Given the description of an element on the screen output the (x, y) to click on. 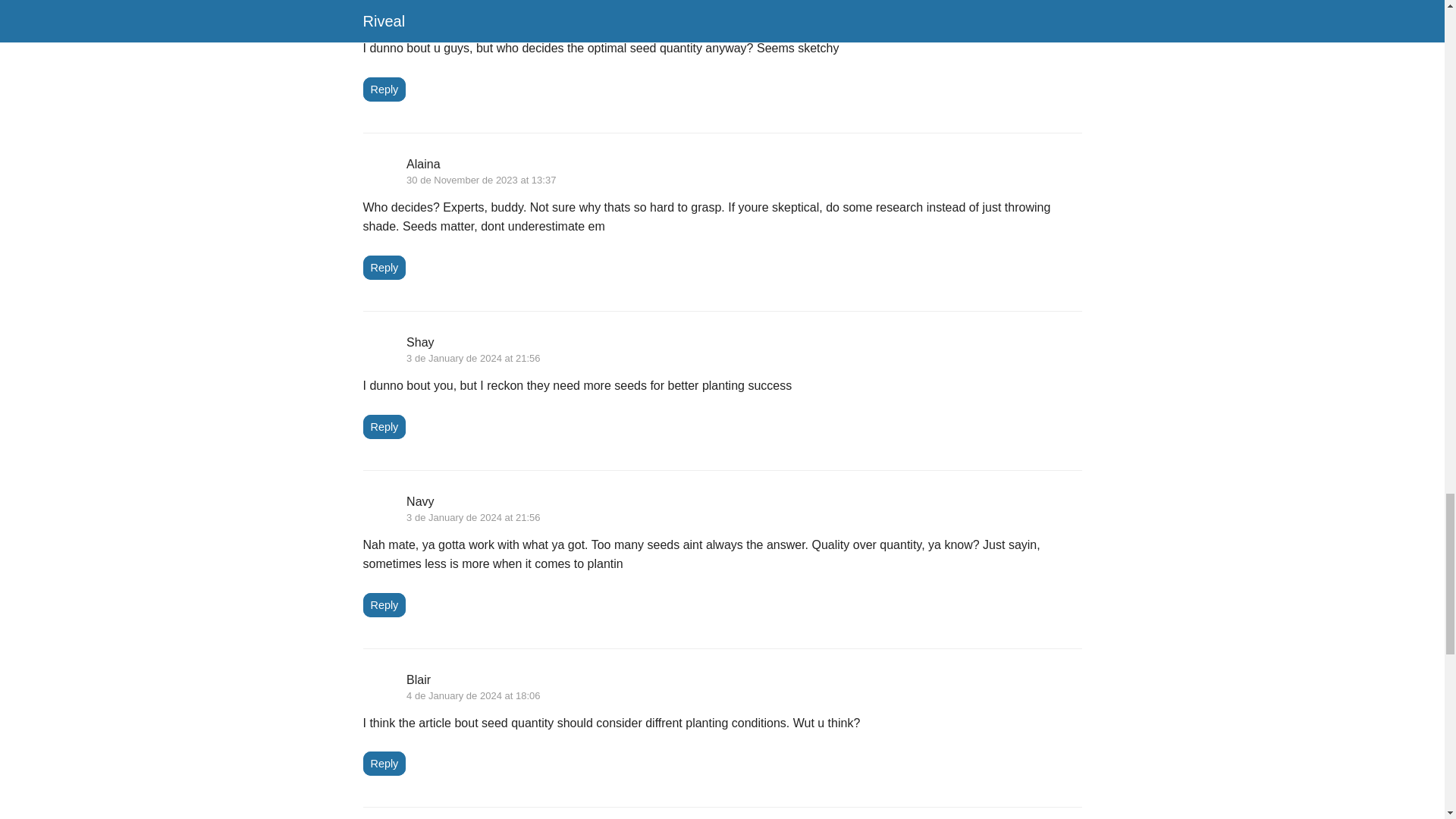
3 de January de 2024 at 21:56 (473, 517)
3 de January de 2024 at 21:56 (473, 357)
4 de January de 2024 at 18:06 (473, 695)
Reply (384, 267)
30 de November de 2023 at 13:37 (481, 179)
Reply (384, 763)
30 de November de 2023 at 13:37 (481, 20)
Reply (384, 604)
Reply (384, 88)
Reply (384, 426)
